Given the description of an element on the screen output the (x, y) to click on. 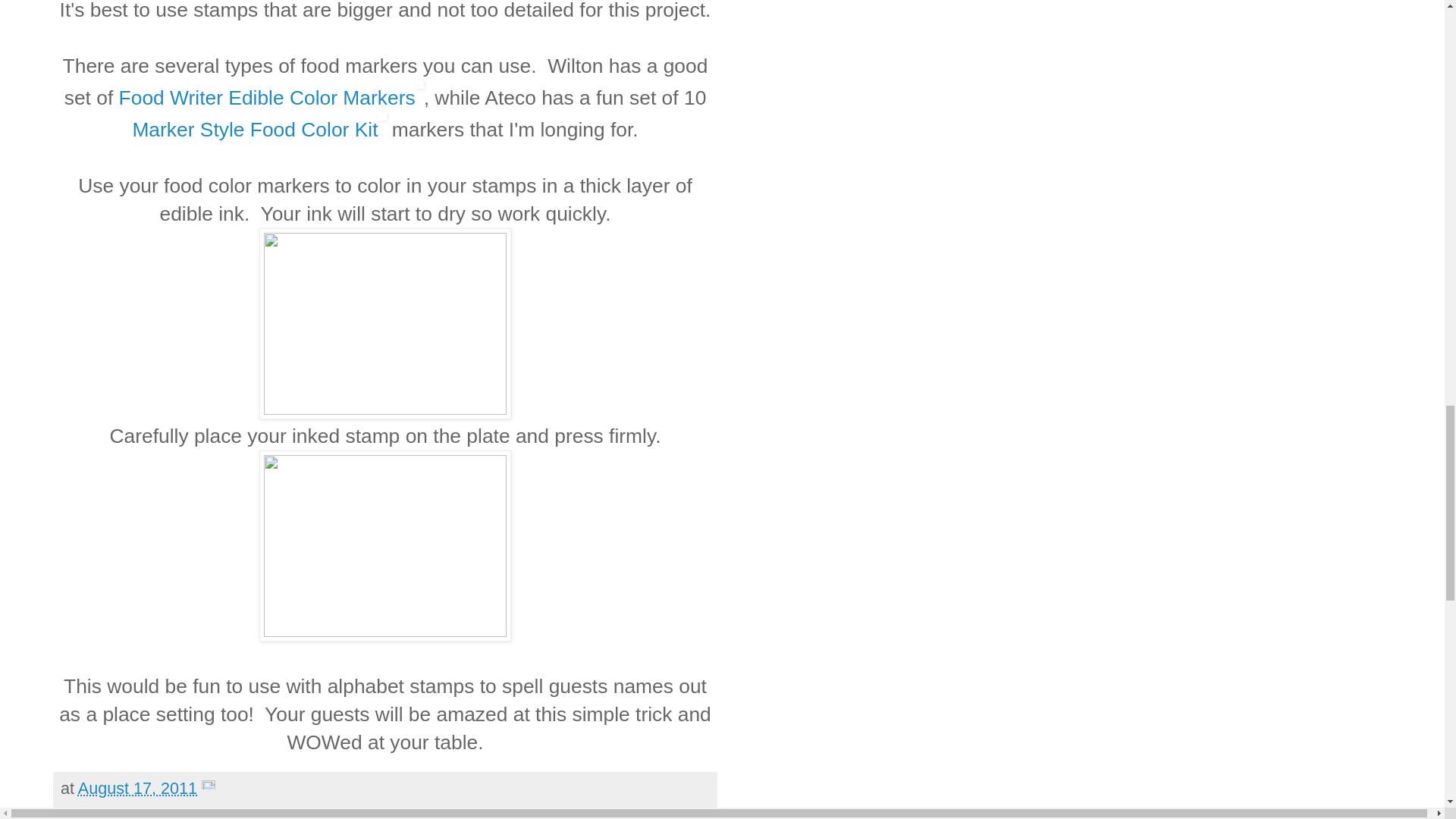
Share to Pinterest (523, 811)
Share to Pinterest (523, 811)
Share to Facebook (387, 811)
Email This (98, 811)
Email This (98, 811)
Marker Style Food Color Kit (254, 128)
BlogThis! (170, 811)
Share to Facebook (387, 811)
BlogThis! (170, 811)
permanent link (137, 787)
